Given the description of an element on the screen output the (x, y) to click on. 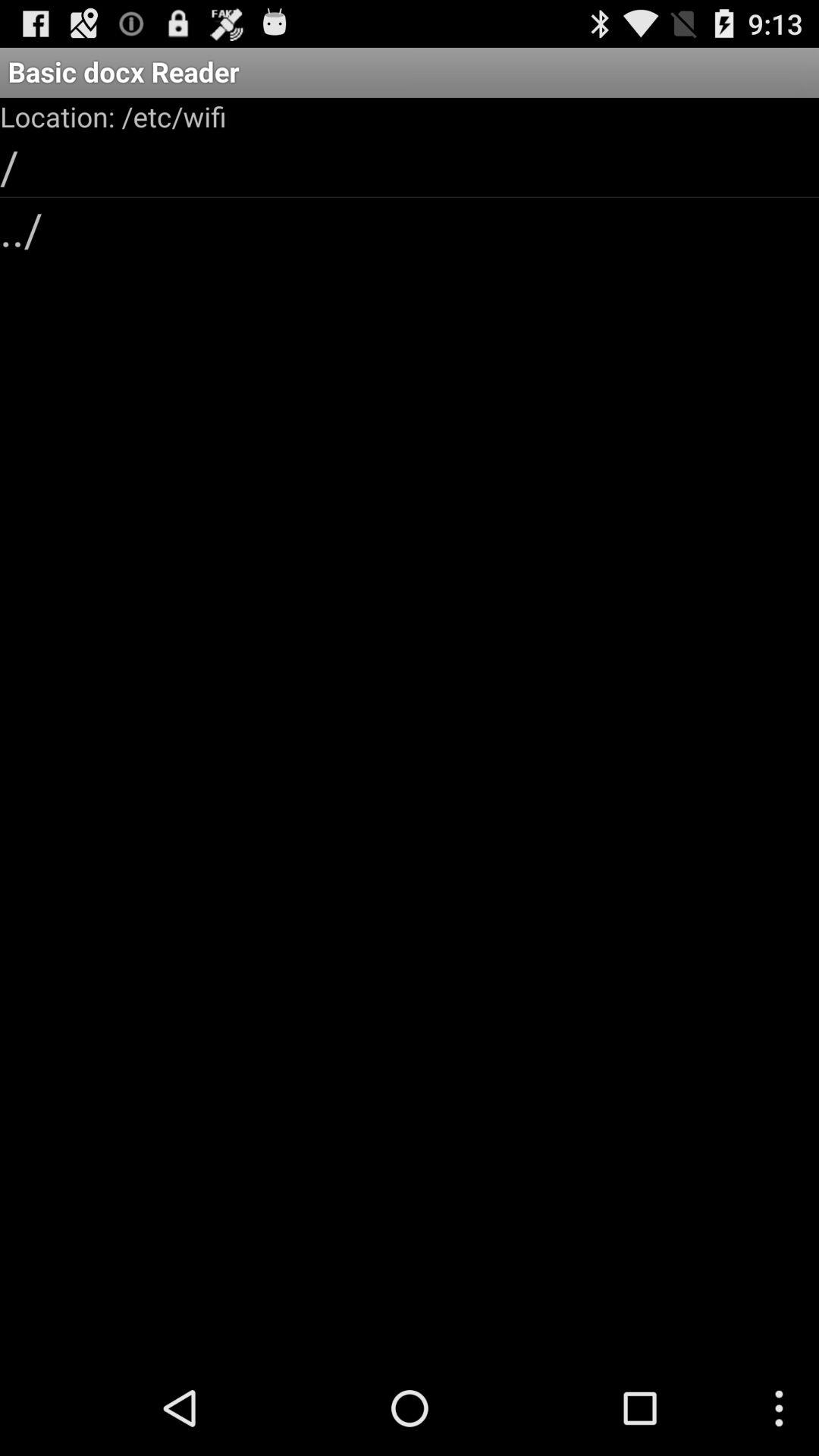
choose the ../ item (409, 228)
